Given the description of an element on the screen output the (x, y) to click on. 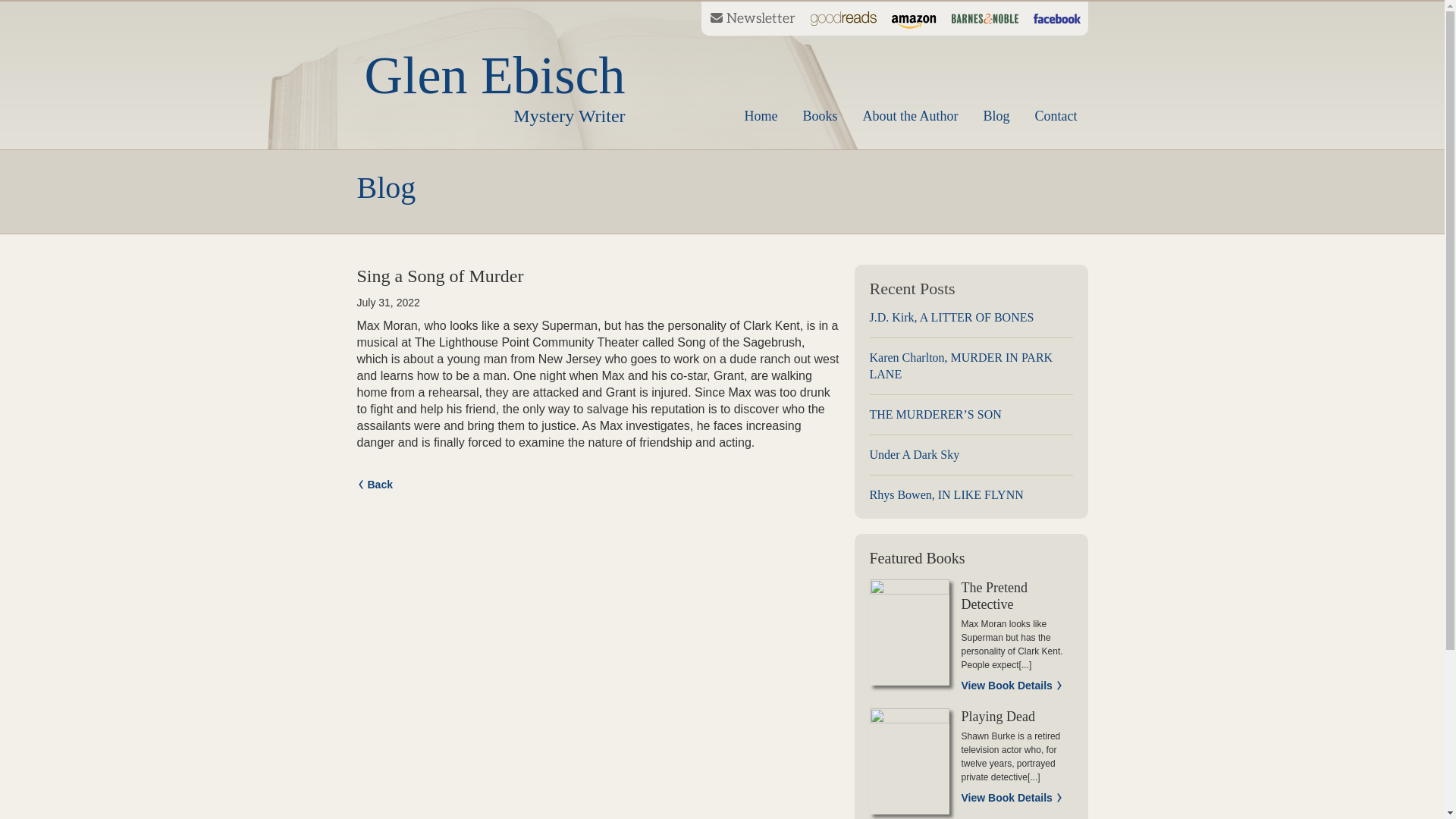
Amazon (913, 18)
View Book Details (1011, 685)
Home (760, 115)
Rhys Bowen, IN LIKE FLYNN (970, 489)
Books (819, 115)
View Book Details (494, 86)
Karen Charlton, MURDER IN PARK LANE (1011, 797)
About the Author (970, 366)
Under A Dark Sky (909, 115)
